Given the description of an element on the screen output the (x, y) to click on. 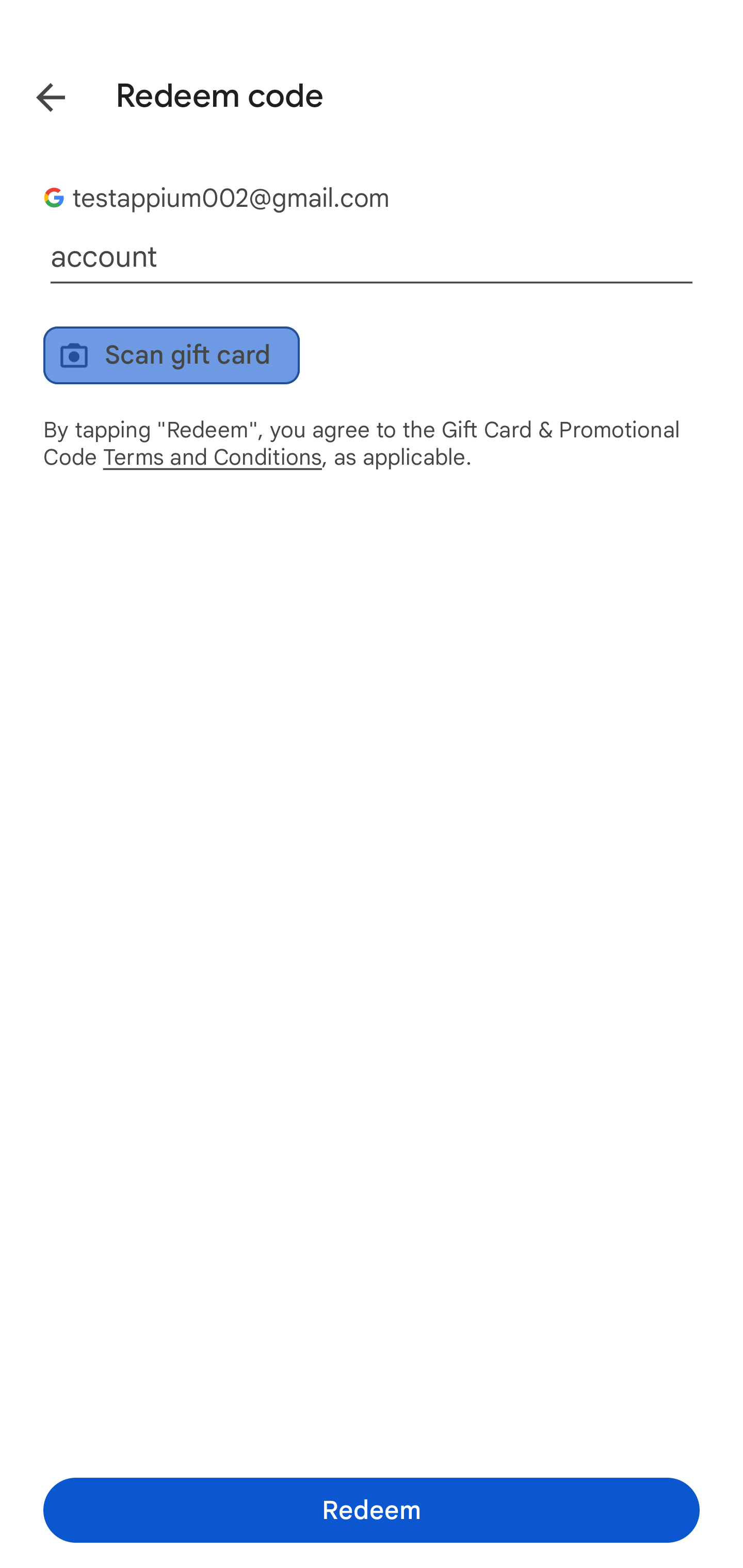
Back (36, 94)
account (371, 256)
Scan gift card (171, 355)
Redeem (371, 1509)
